Given the description of an element on the screen output the (x, y) to click on. 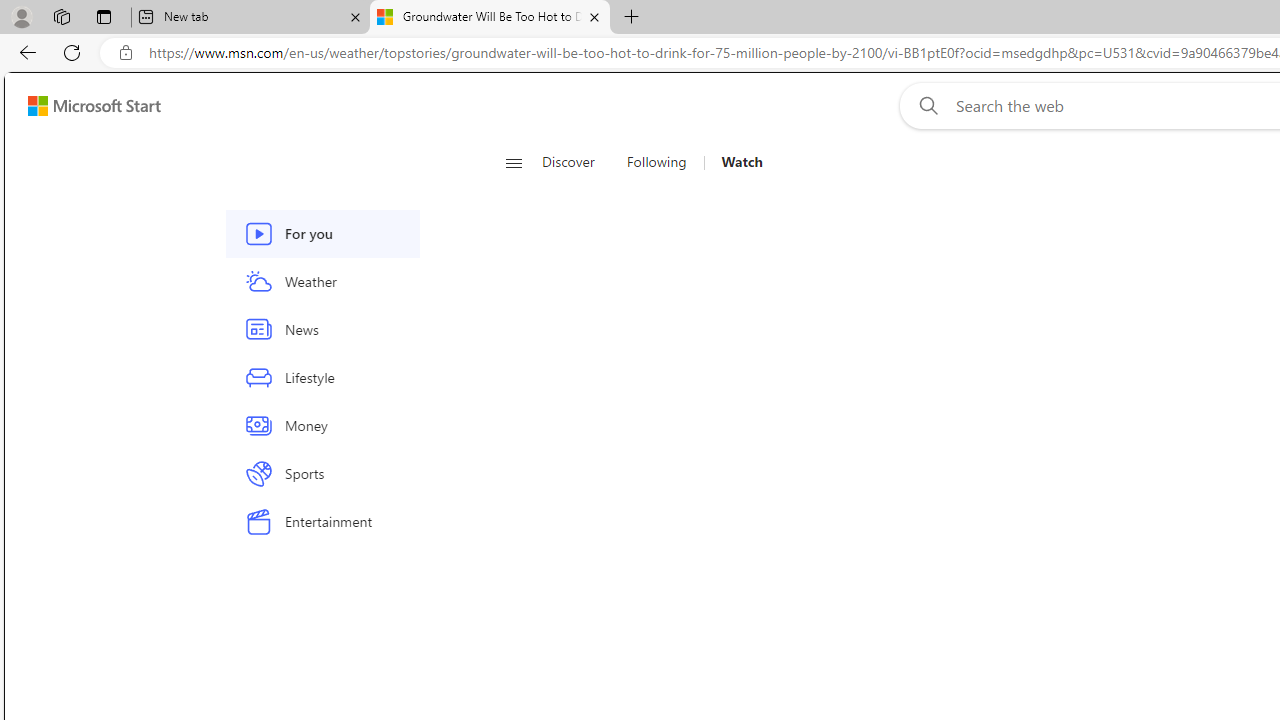
Skip to footer (82, 105)
Web search (924, 105)
